Given the description of an element on the screen output the (x, y) to click on. 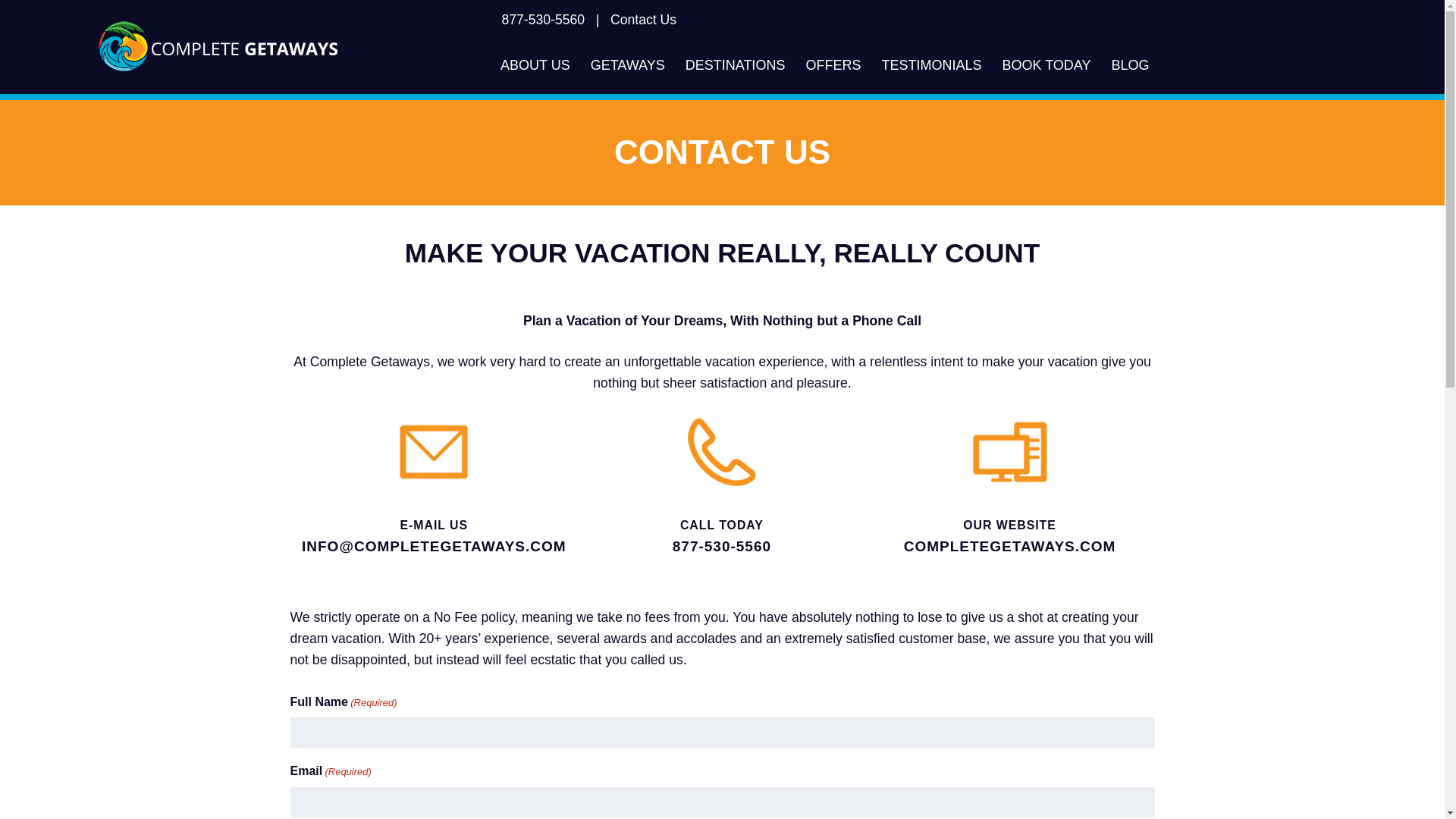
DESTINATIONS (734, 65)
OFFERS (832, 65)
COMPLETEGETAWAYS.COM (1010, 546)
BOOK TODAY (1045, 65)
Contact Us (643, 19)
BLOG (1129, 65)
GETAWAYS (627, 65)
877-530-5560 (721, 546)
TESTIMONIALS (930, 65)
ABOUT US (534, 65)
